Given the description of an element on the screen output the (x, y) to click on. 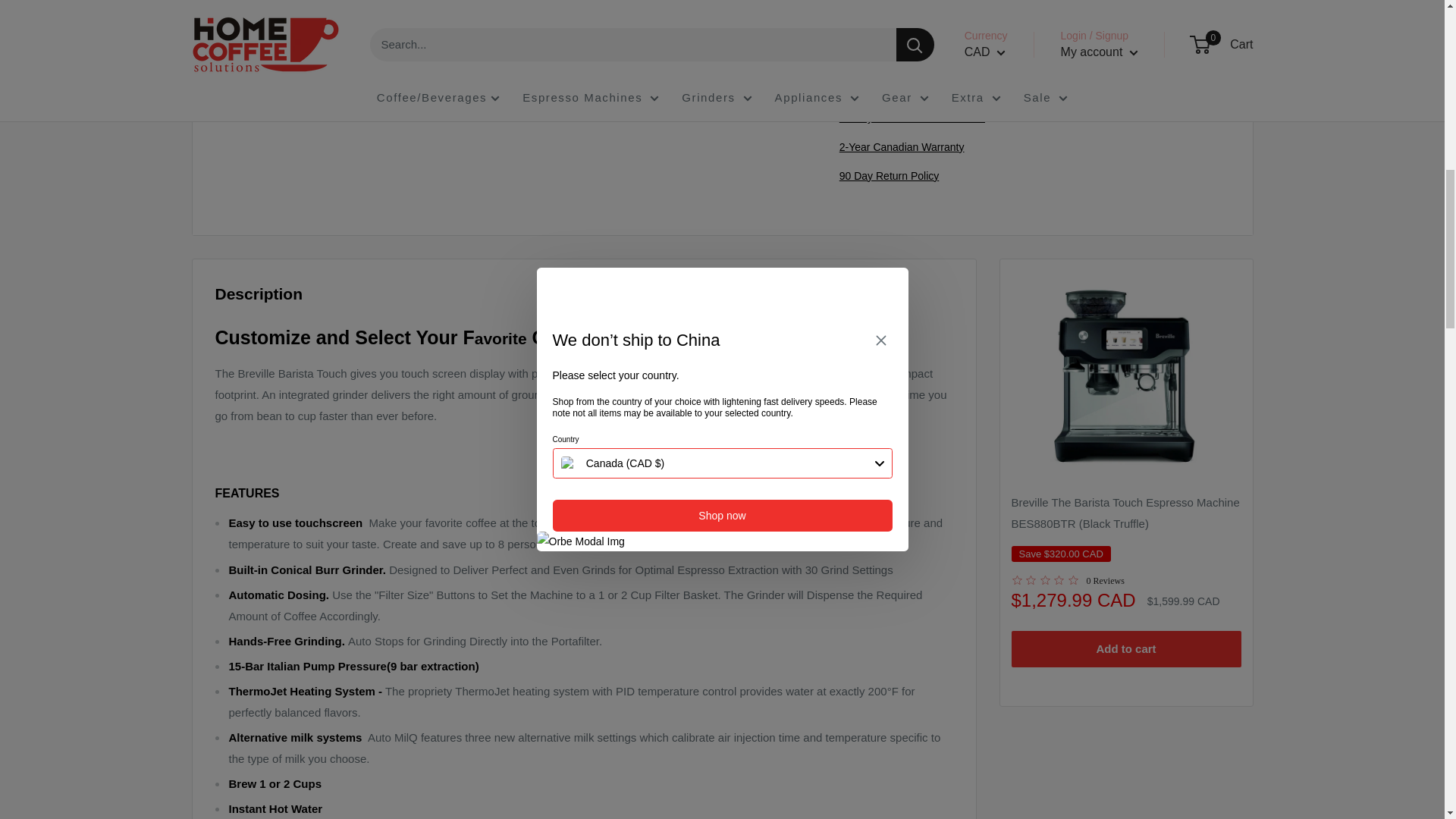
0 Reviews (1067, 579)
